Given the description of an element on the screen output the (x, y) to click on. 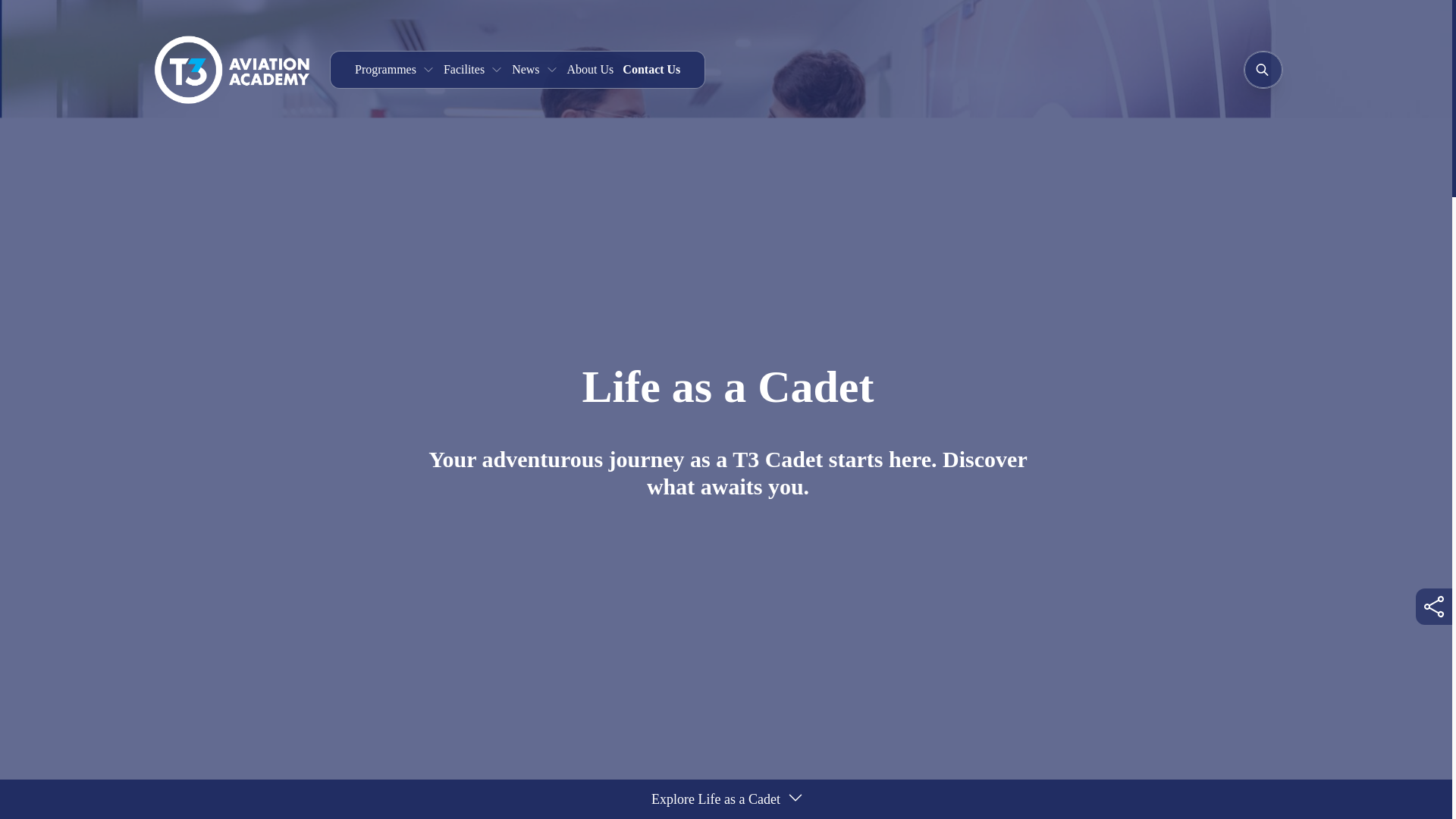
Contact Us (651, 69)
Facilites (473, 69)
News (534, 69)
Programmes (394, 69)
About Us (590, 69)
